Given the description of an element on the screen output the (x, y) to click on. 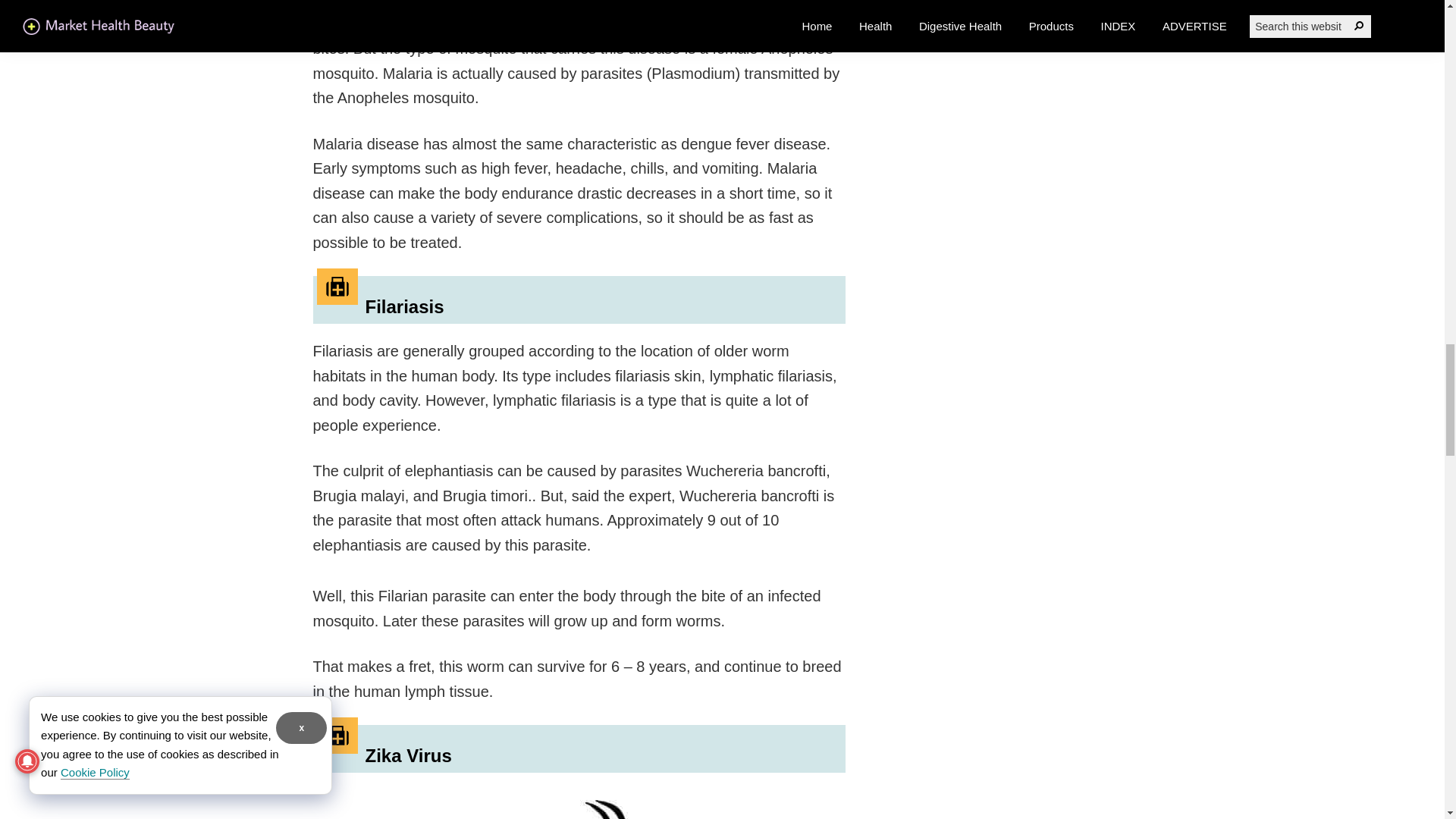
Beware 8 Mosquito-borne Diseases 1 (555, 803)
